Given the description of an element on the screen output the (x, y) to click on. 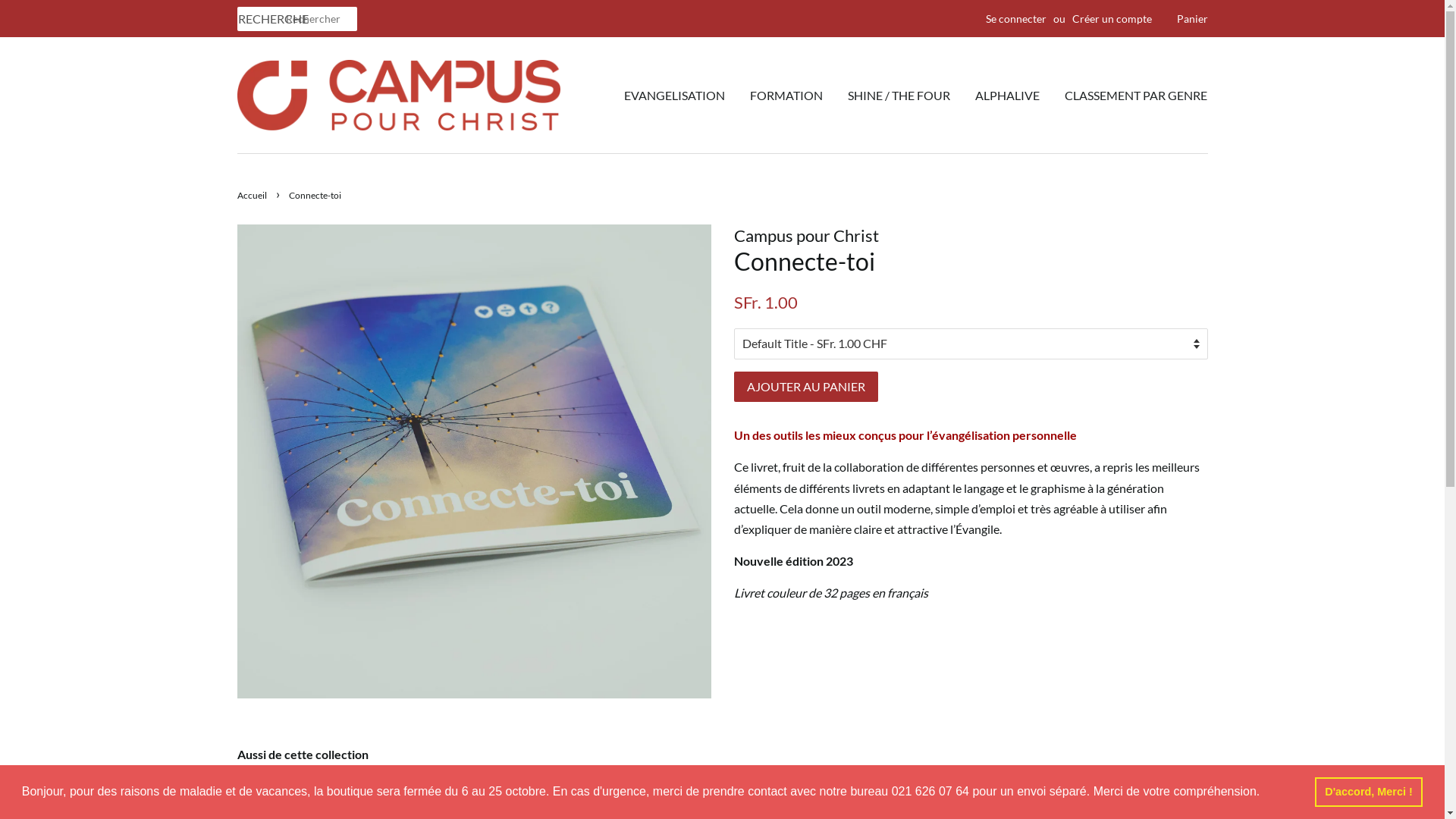
Accueil Element type: text (252, 194)
ALPHALIVE Element type: text (1007, 94)
CLASSEMENT PAR GENRE Element type: text (1130, 94)
SHINE / THE FOUR Element type: text (898, 94)
Se connecter Element type: text (1015, 18)
RECHERCHE Element type: text (260, 18)
AJOUTER AU PANIER Element type: text (806, 386)
Panier Element type: text (1192, 18)
FORMATION Element type: text (786, 94)
EVANGELISATION Element type: text (680, 94)
D'accord, Merci ! Element type: text (1368, 791)
